Given the description of an element on the screen output the (x, y) to click on. 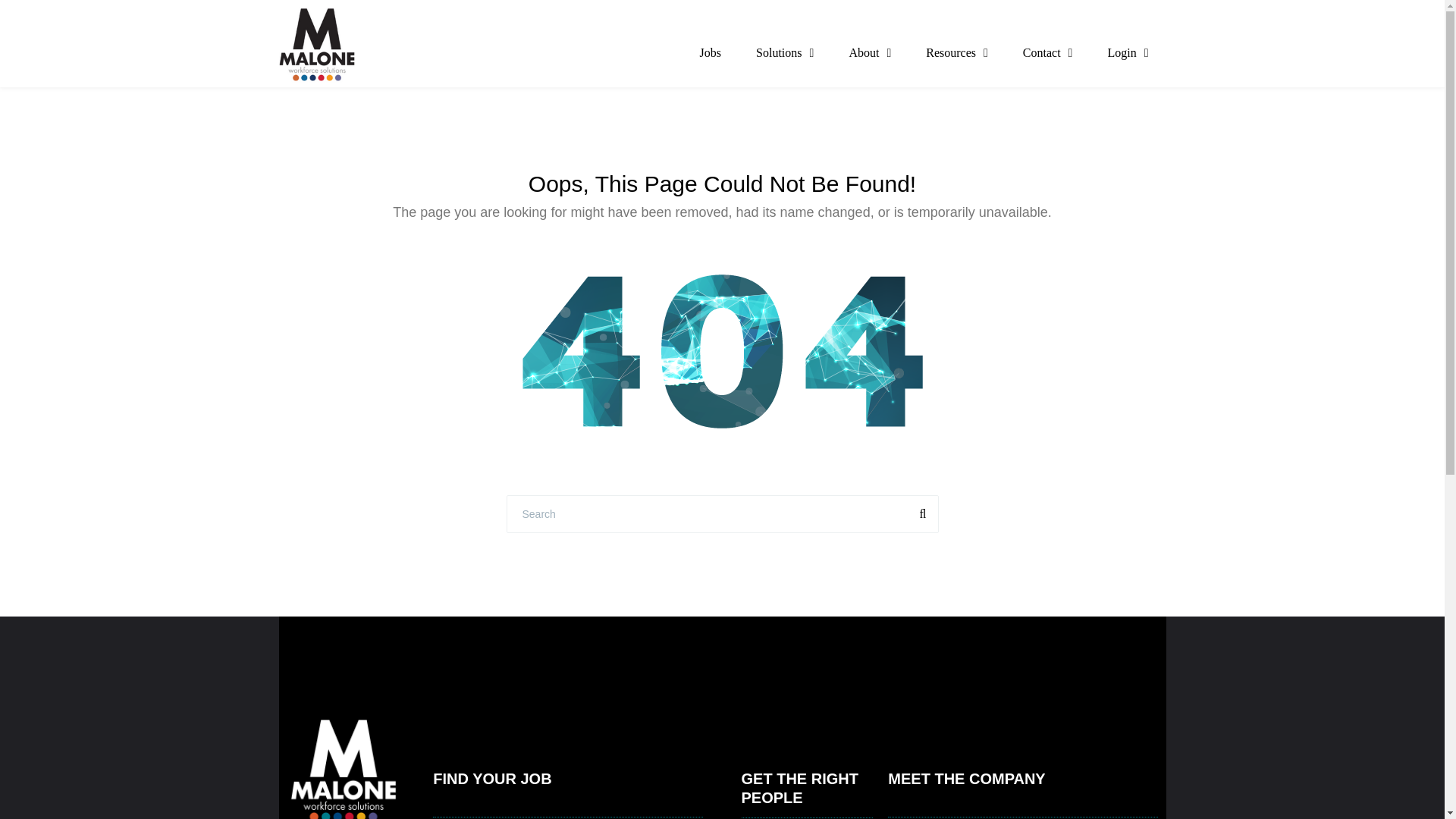
Contact (1048, 52)
Resources (957, 52)
Solutions (784, 52)
About (869, 52)
Login (1127, 52)
